Given the description of an element on the screen output the (x, y) to click on. 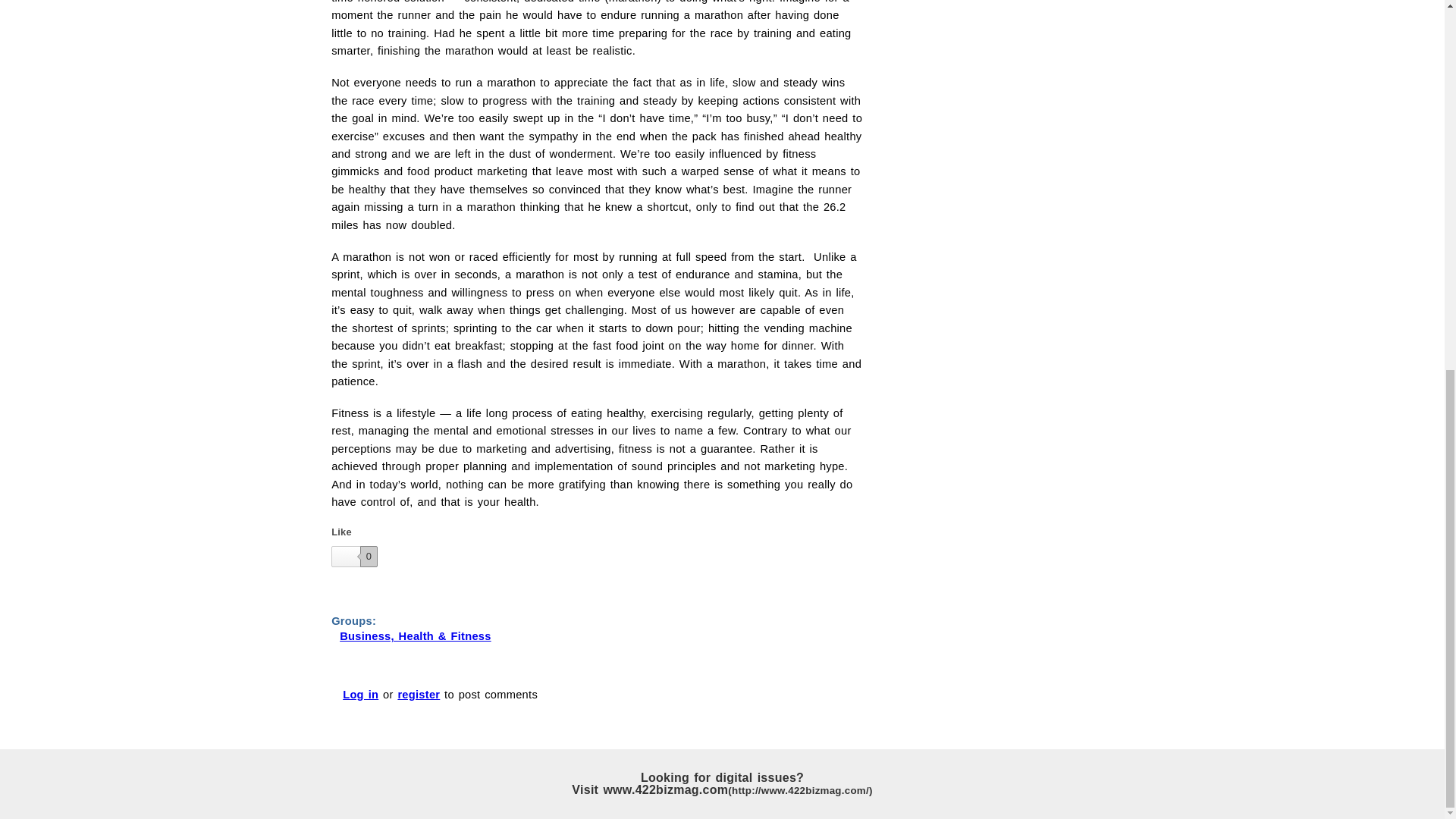
Log in (360, 694)
register (418, 694)
www.422bizmag.com (737, 789)
